Given the description of an element on the screen output the (x, y) to click on. 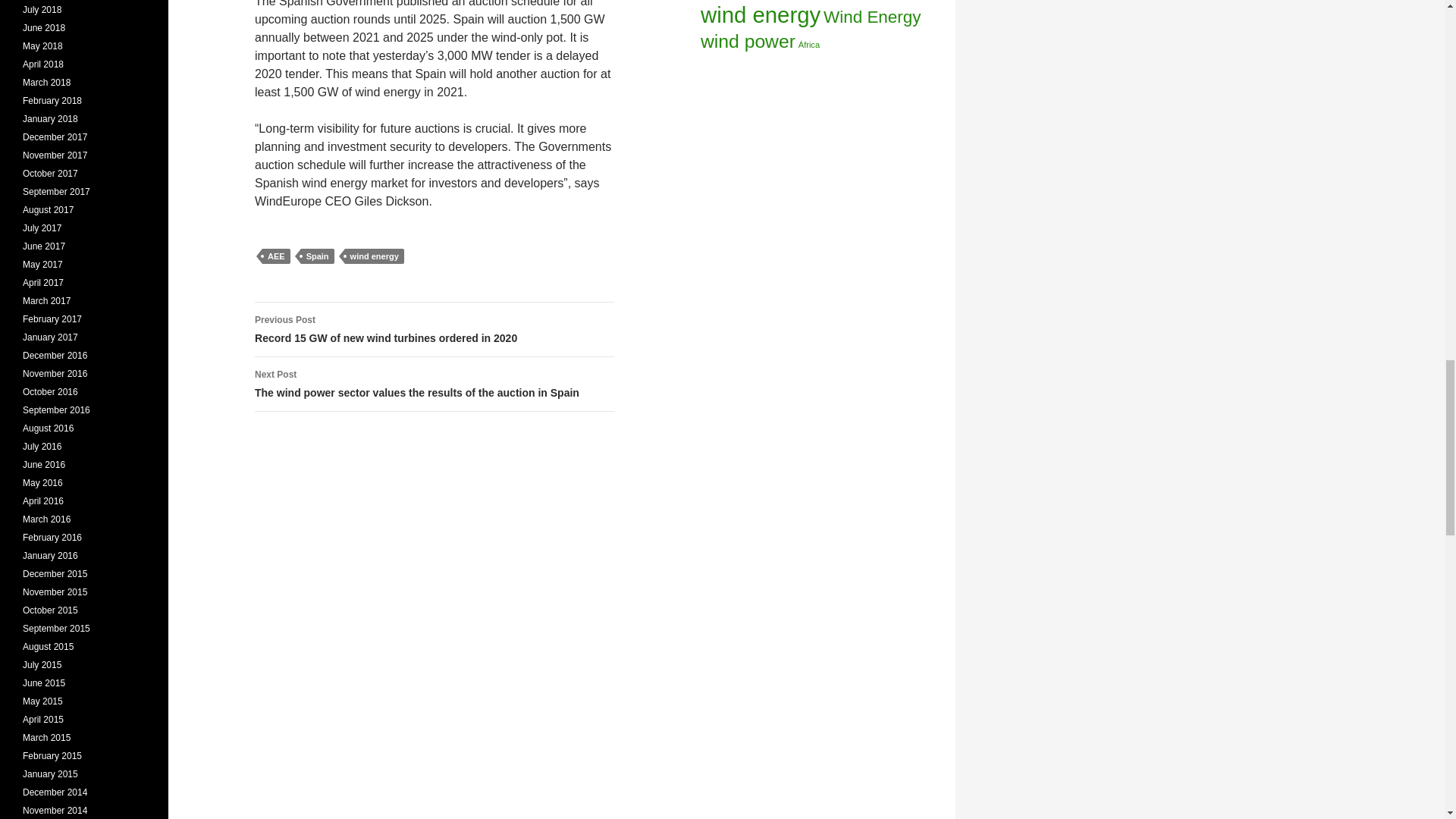
Spain (317, 255)
AEE (275, 255)
wind energy (374, 255)
